Given the description of an element on the screen output the (x, y) to click on. 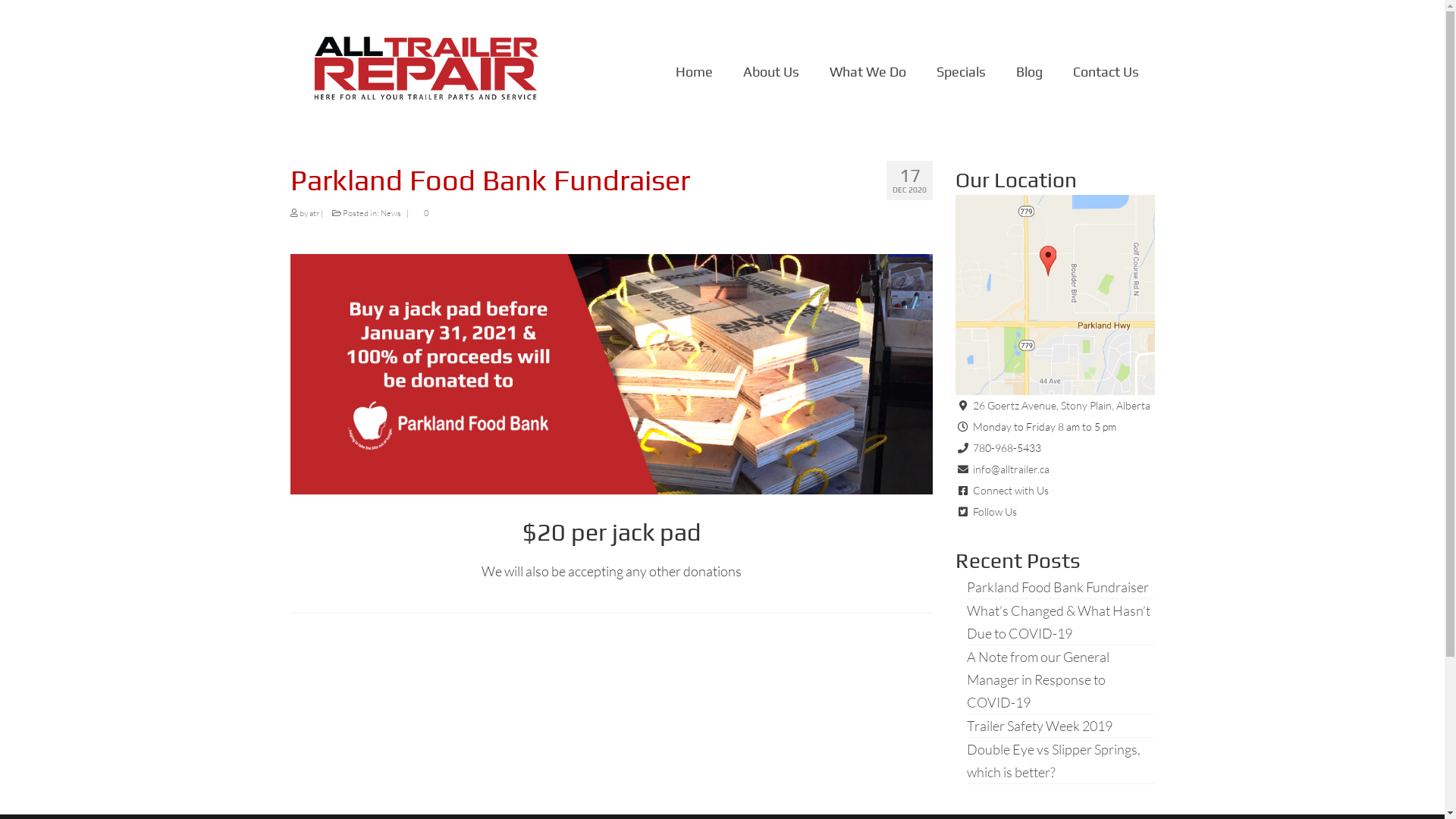
Trailer Safety Week 2019 Element type: text (1039, 725)
info@alltrailer.ca Element type: text (1010, 468)
A Note from our General Manager in Response to COVID-19 Element type: text (1037, 679)
What We Do Element type: text (867, 71)
Blog Element type: text (1029, 71)
26 Goertz Avenue, Stony Plain, Alberta Element type: text (1061, 404)
Connect with Us Element type: text (1010, 489)
News Element type: text (390, 212)
Follow Us Element type: text (994, 511)
Contact Us Element type: text (1105, 71)
About Us Element type: text (771, 71)
atr Element type: text (314, 212)
Home Element type: text (694, 71)
parkland-food-bank Element type: hover (610, 374)
Specials Element type: text (961, 71)
Parkland Food Bank Fundraiser Element type: text (1057, 586)
Double Eye vs Slipper Springs, which is better? Element type: text (1053, 760)
